Given the description of an element on the screen output the (x, y) to click on. 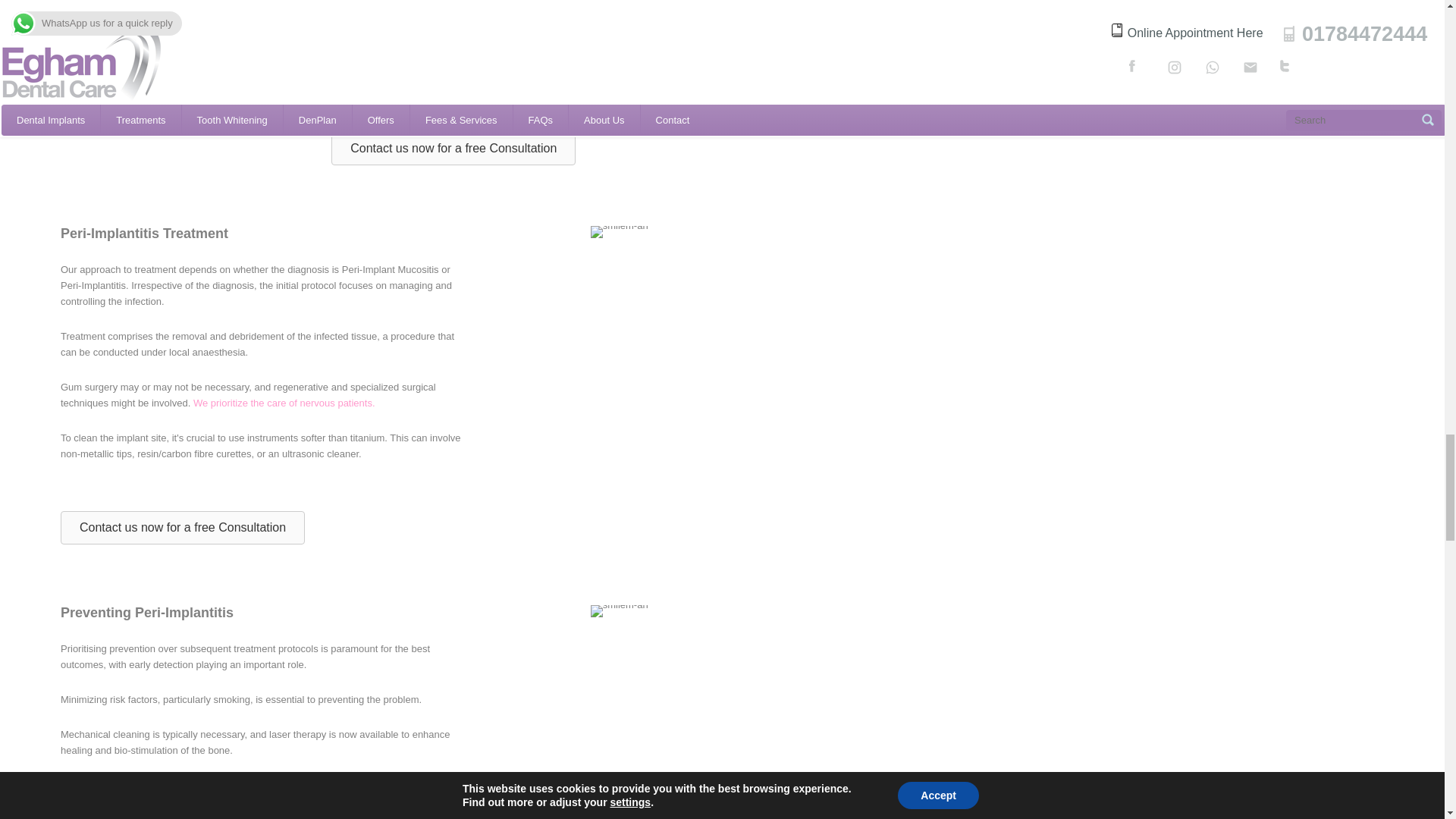
smilem-an (619, 611)
smilem-an (619, 232)
